Given the description of an element on the screen output the (x, y) to click on. 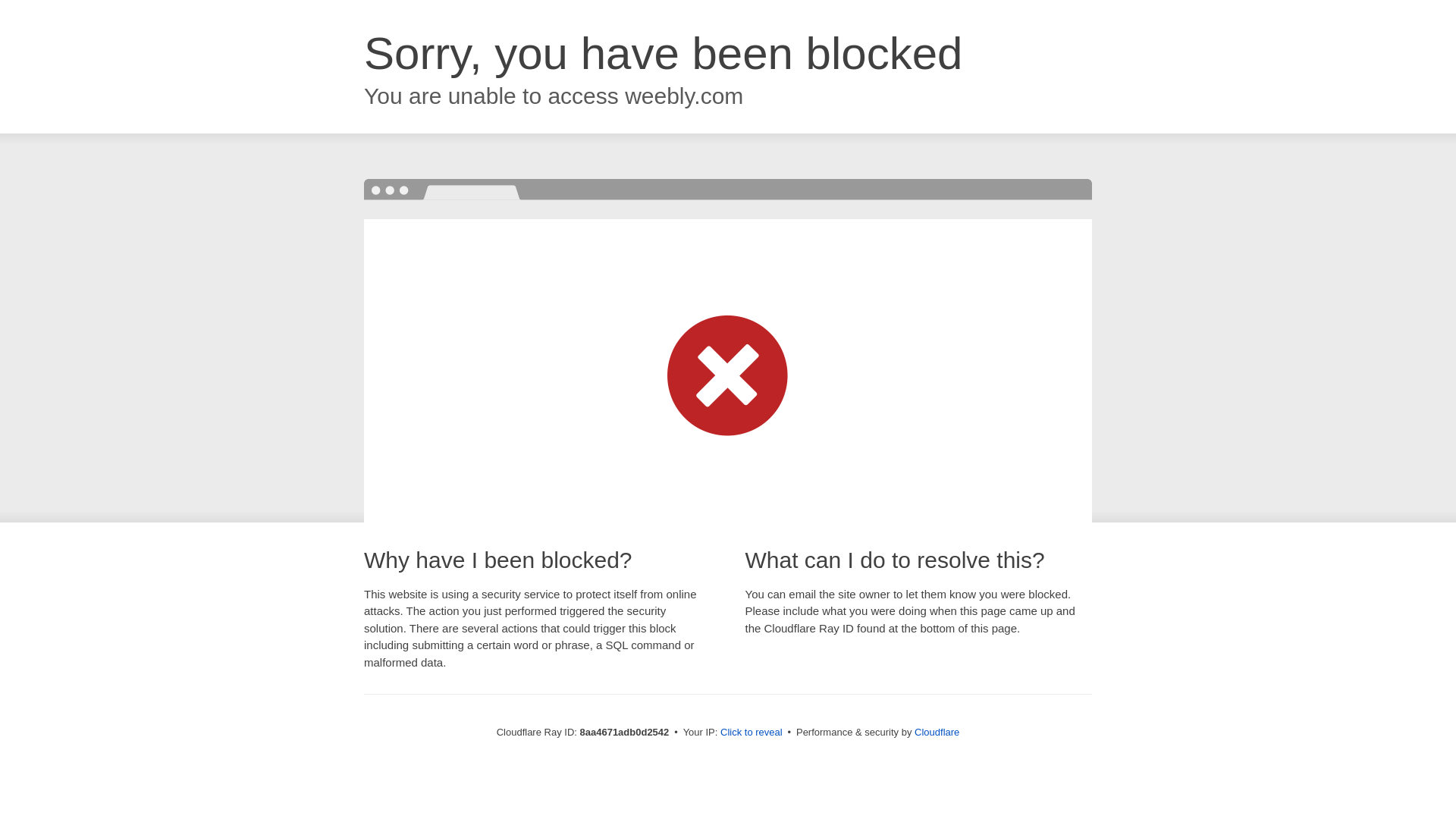
Cloudflare (936, 731)
Click to reveal (751, 732)
